Given the description of an element on the screen output the (x, y) to click on. 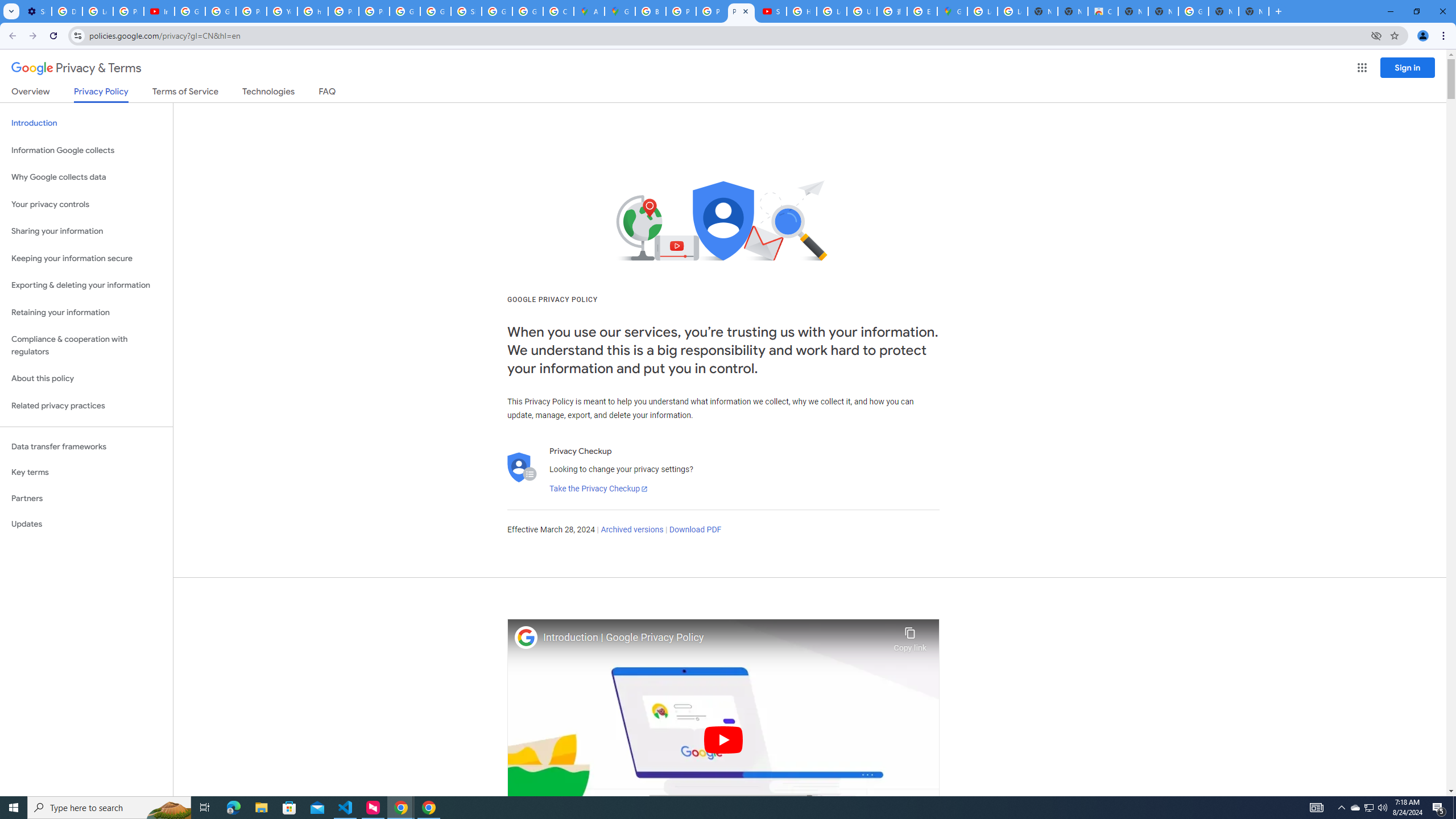
Key terms (86, 472)
https://scholar.google.com/ (312, 11)
Delete photos & videos - Computer - Google Photos Help (66, 11)
Google Account Help (189, 11)
About this policy (86, 379)
Explore new street-level details - Google Maps Help (922, 11)
